Given the description of an element on the screen output the (x, y) to click on. 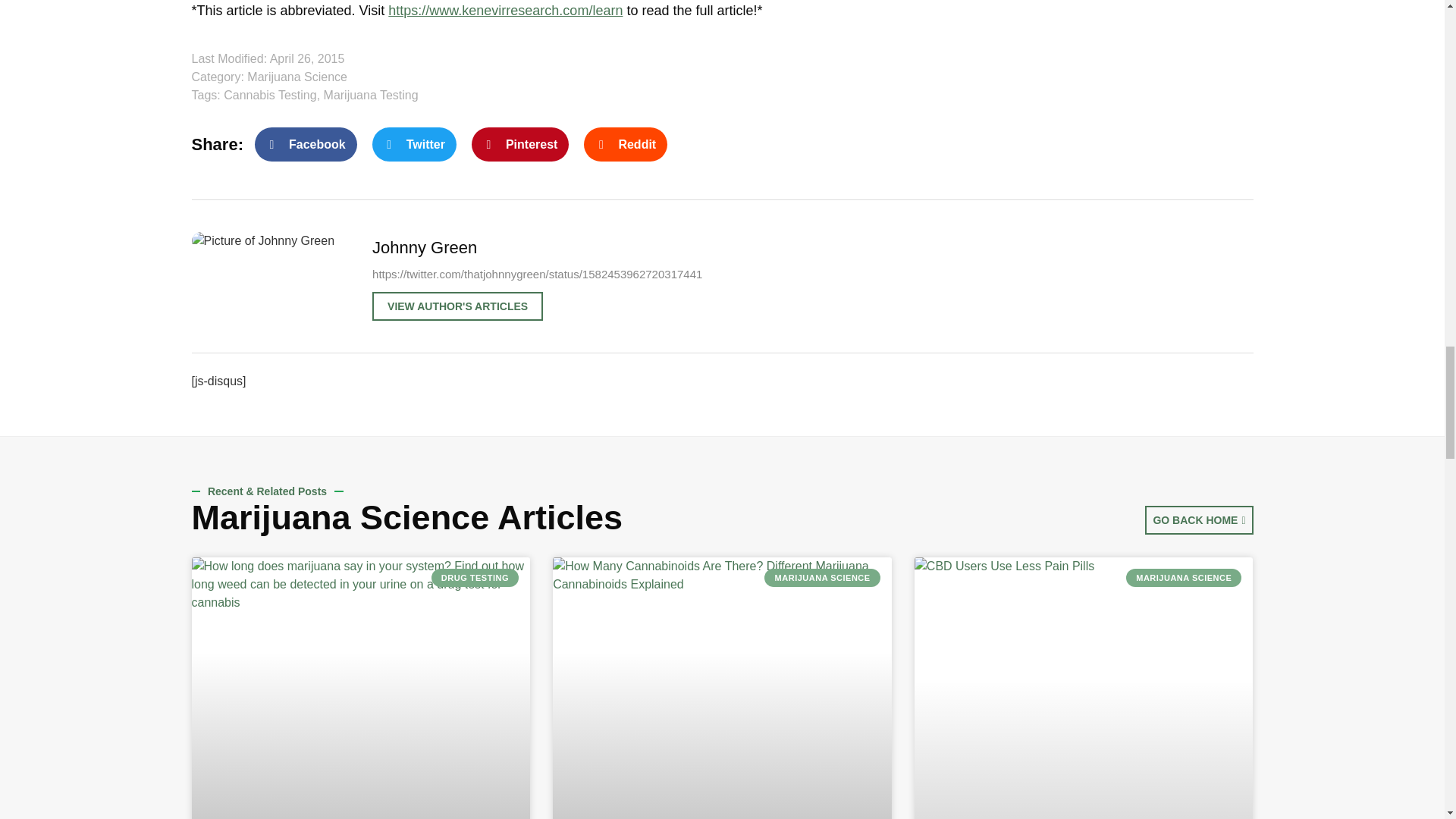
Marijuana Science (297, 76)
Marijuana Science (339, 517)
VIEW AUTHOR'S ARTICLES (457, 306)
Cannabis Testing (269, 94)
GO BACK HOME (1198, 520)
Marijuana Testing (371, 94)
